Given the description of an element on the screen output the (x, y) to click on. 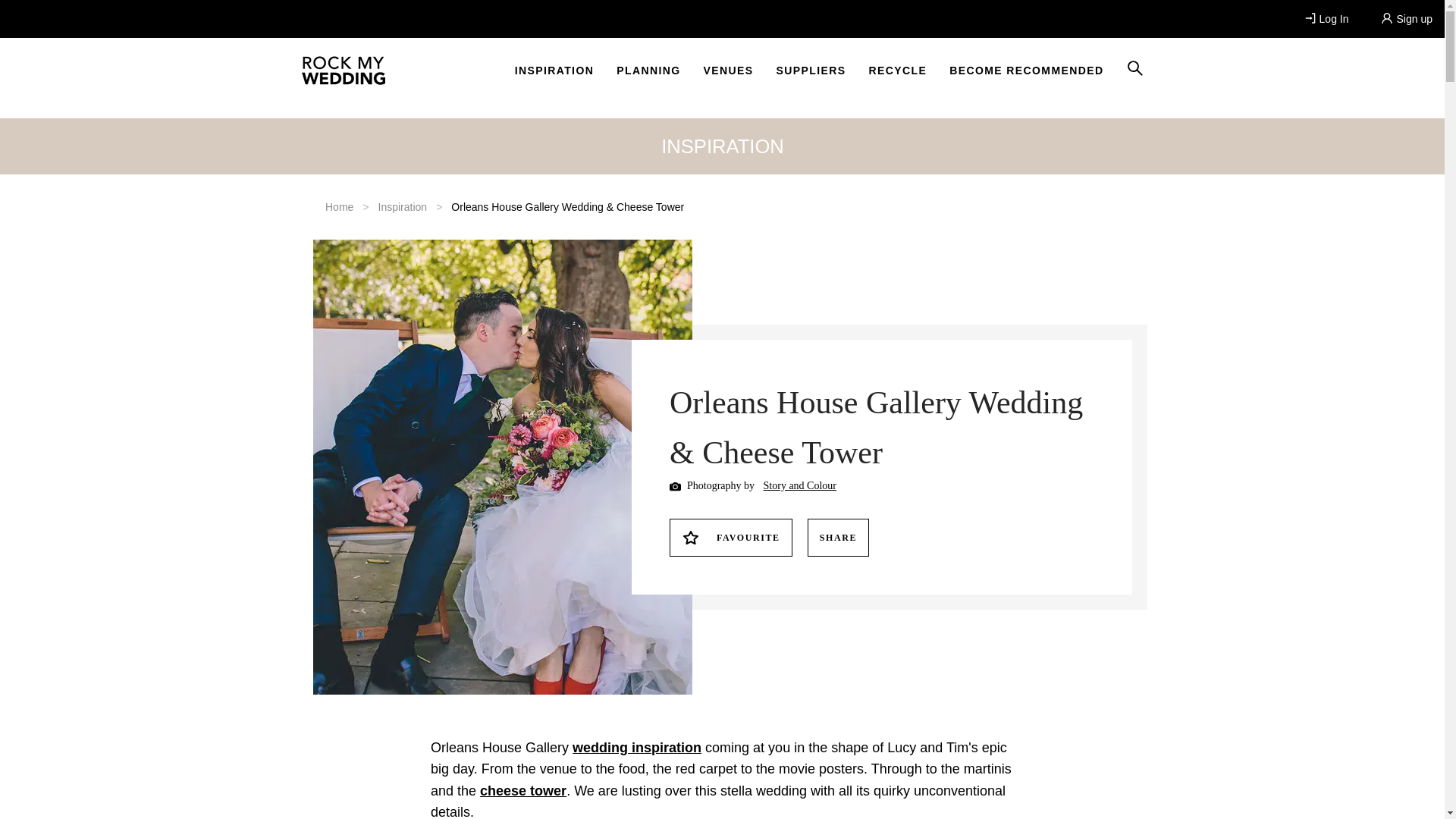
Log In (1330, 18)
wedding inspiration (636, 747)
SUPPLIERS (810, 70)
RECYCLE (897, 70)
PLANNING (647, 70)
VENUES (728, 70)
BECOME RECOMMENDED (1026, 70)
Home (338, 206)
SHARE (836, 537)
Story and Colour (798, 485)
